Given the description of an element on the screen output the (x, y) to click on. 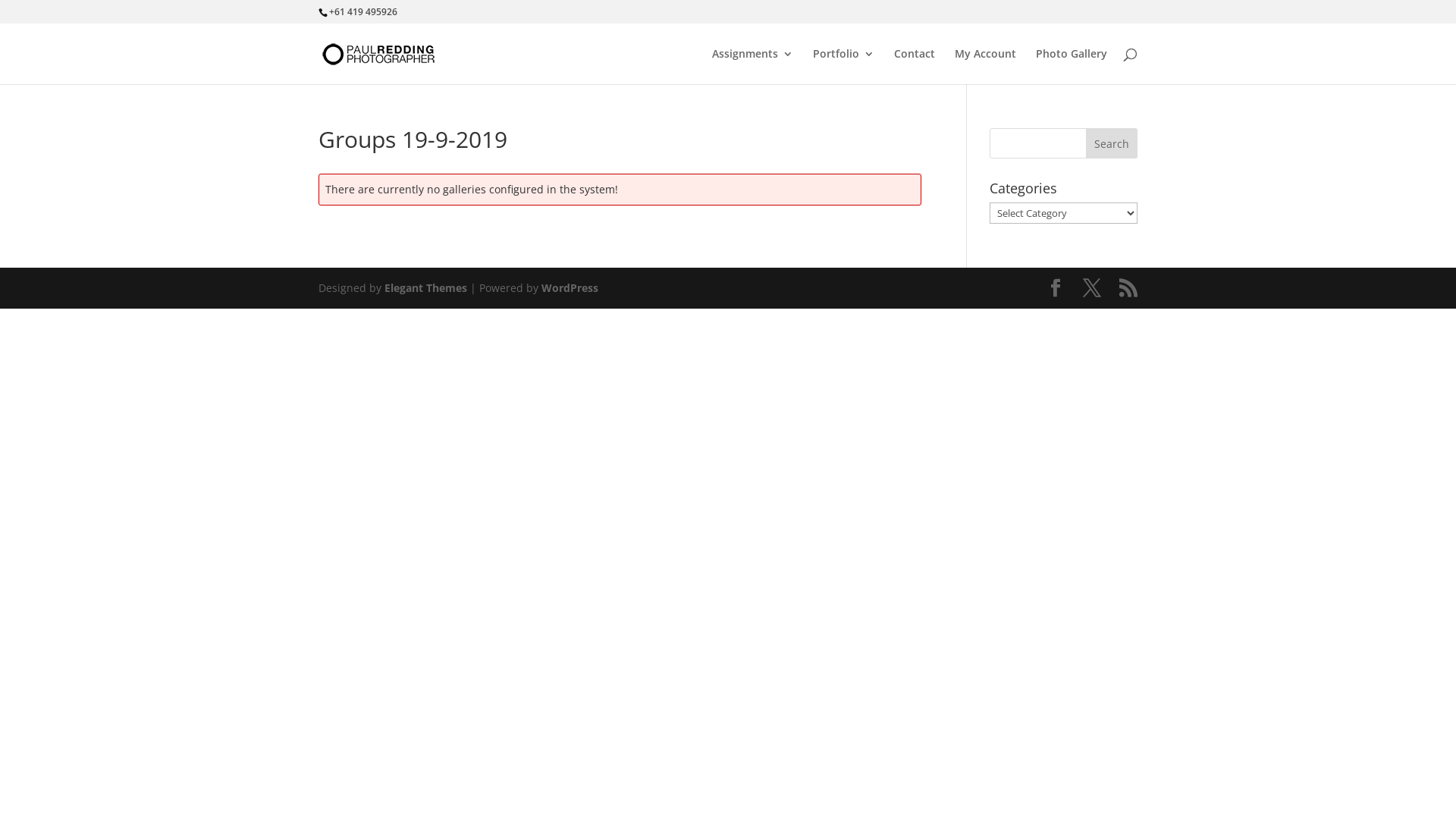
Portfolio Element type: text (843, 66)
WordPress Element type: text (569, 287)
Assignments Element type: text (752, 66)
Elegant Themes Element type: text (425, 287)
Search Element type: text (1111, 143)
Photo Gallery Element type: text (1071, 66)
Contact Element type: text (914, 66)
My Account Element type: text (985, 66)
